Given the description of an element on the screen output the (x, y) to click on. 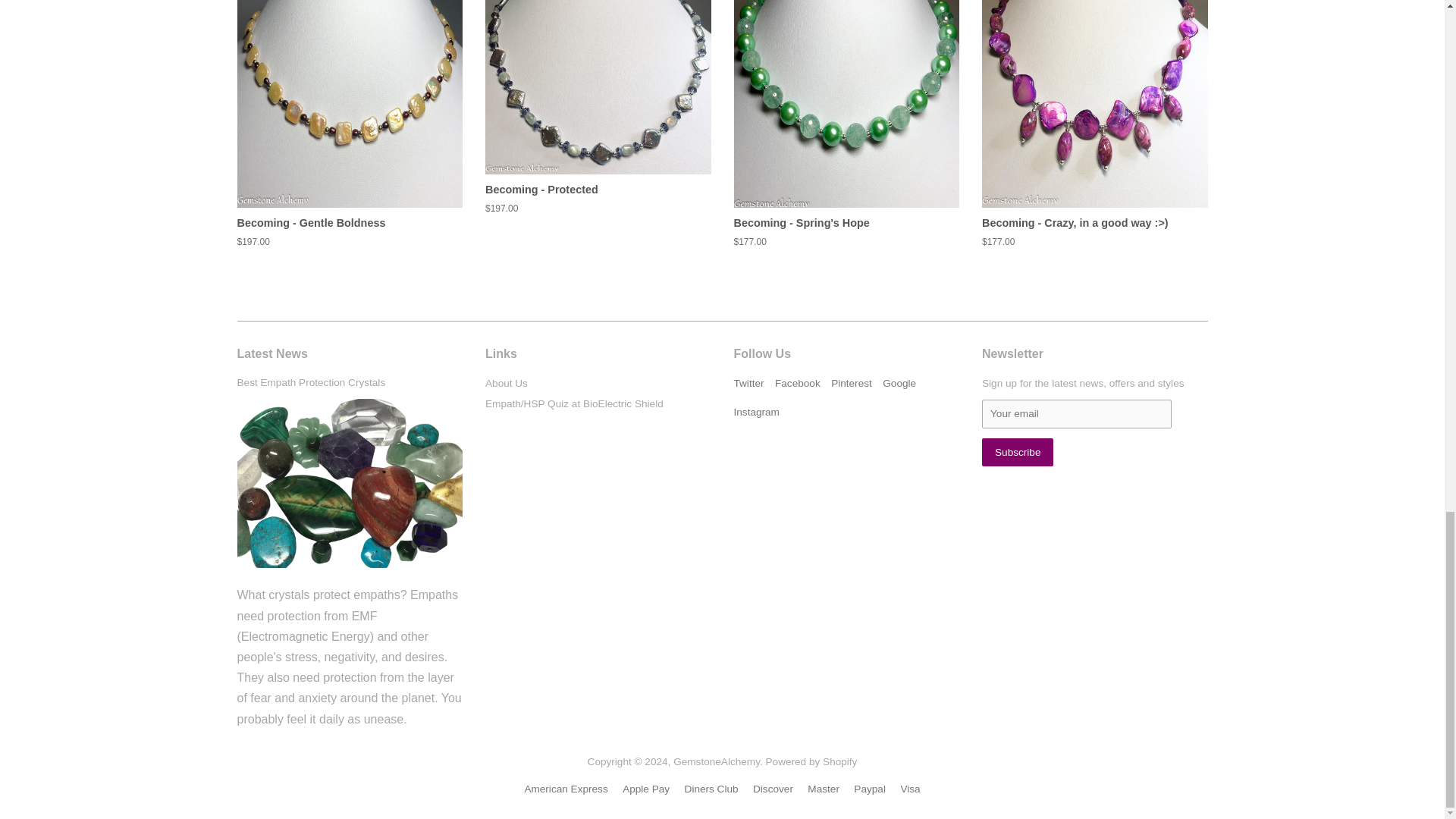
GemstoneAlchemy on Pinterest (851, 383)
Subscribe (1016, 452)
GemstoneAlchemy on Instagram (755, 411)
GemstoneAlchemy on Facebook (797, 383)
GemstoneAlchemy on Google Plus (898, 383)
GemstoneAlchemy on Twitter (748, 383)
